Given the description of an element on the screen output the (x, y) to click on. 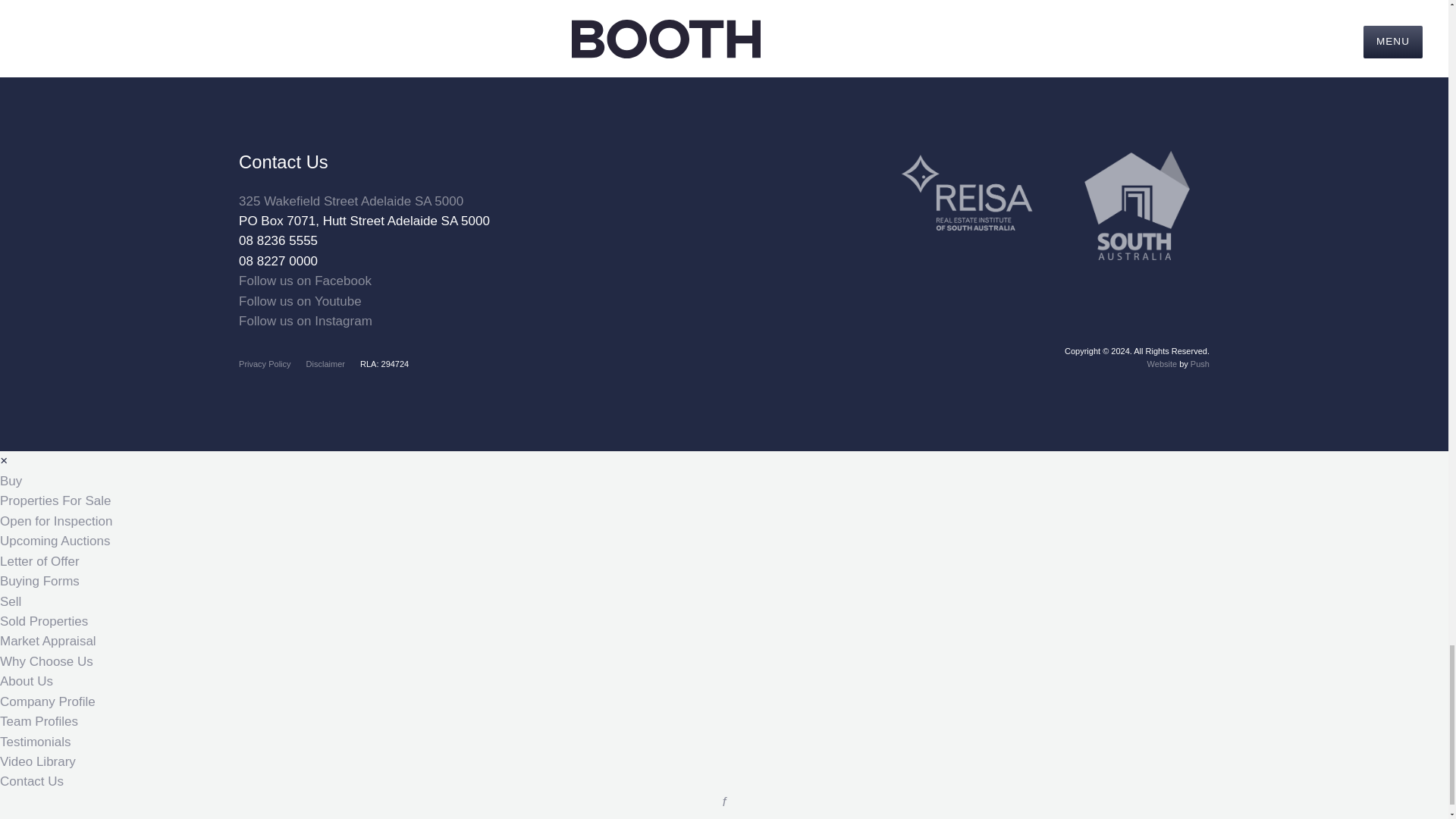
325 Wakefield Street Adelaide SA 5000 (350, 201)
Follow us on Youtube (299, 301)
Follow us on Instagram (305, 320)
Privacy Policy (263, 363)
Follow us on Facebook (304, 280)
Disclaimer (325, 363)
